Given the description of an element on the screen output the (x, y) to click on. 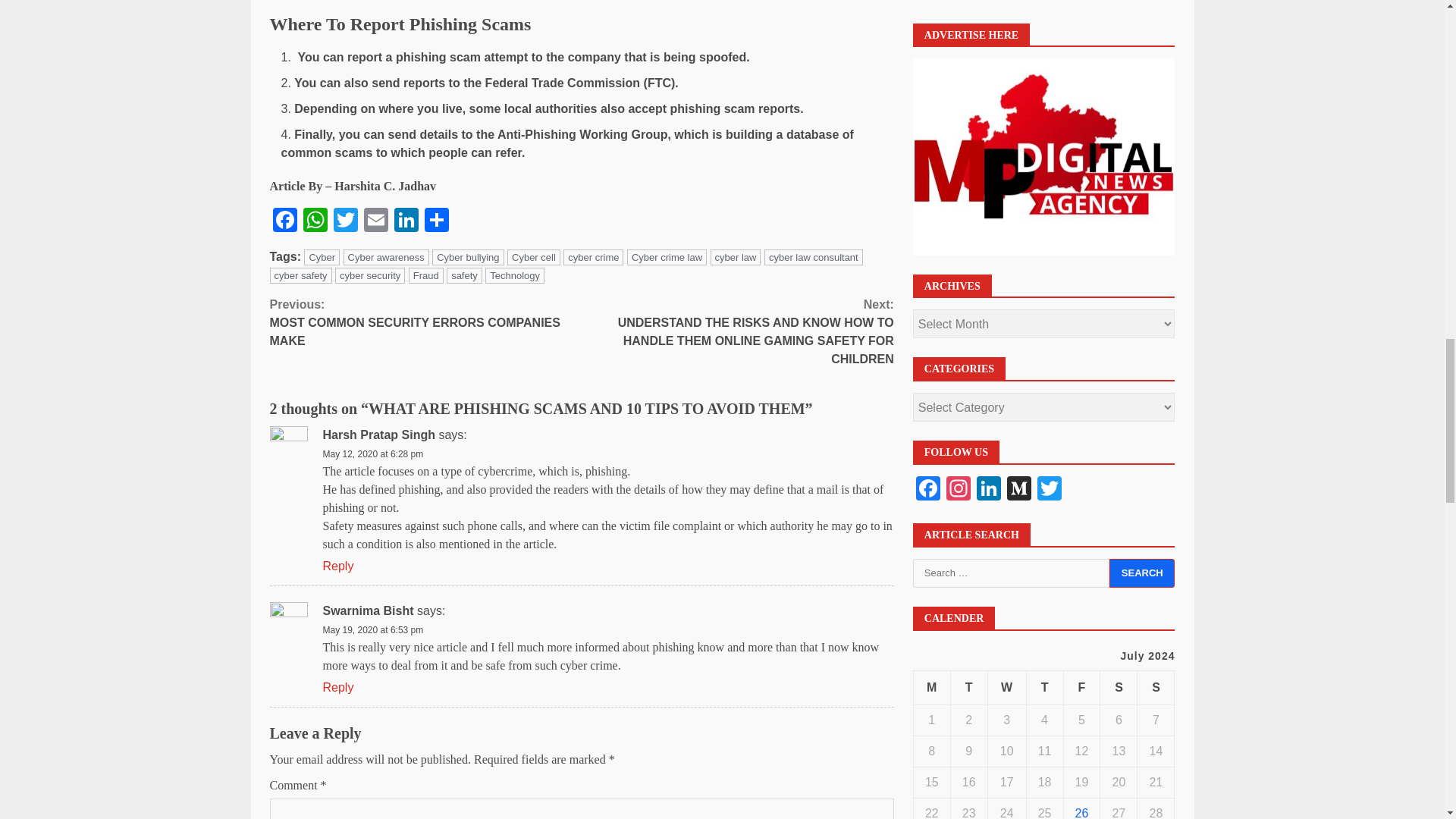
Share (436, 221)
Twitter (345, 221)
Cyber (321, 257)
LinkedIn (406, 221)
Facebook (284, 221)
Facebook (284, 221)
Cyber awareness (386, 257)
WhatsApp (314, 221)
Email (376, 221)
LinkedIn (406, 221)
Twitter (345, 221)
Email (376, 221)
WhatsApp (314, 221)
